Given the description of an element on the screen output the (x, y) to click on. 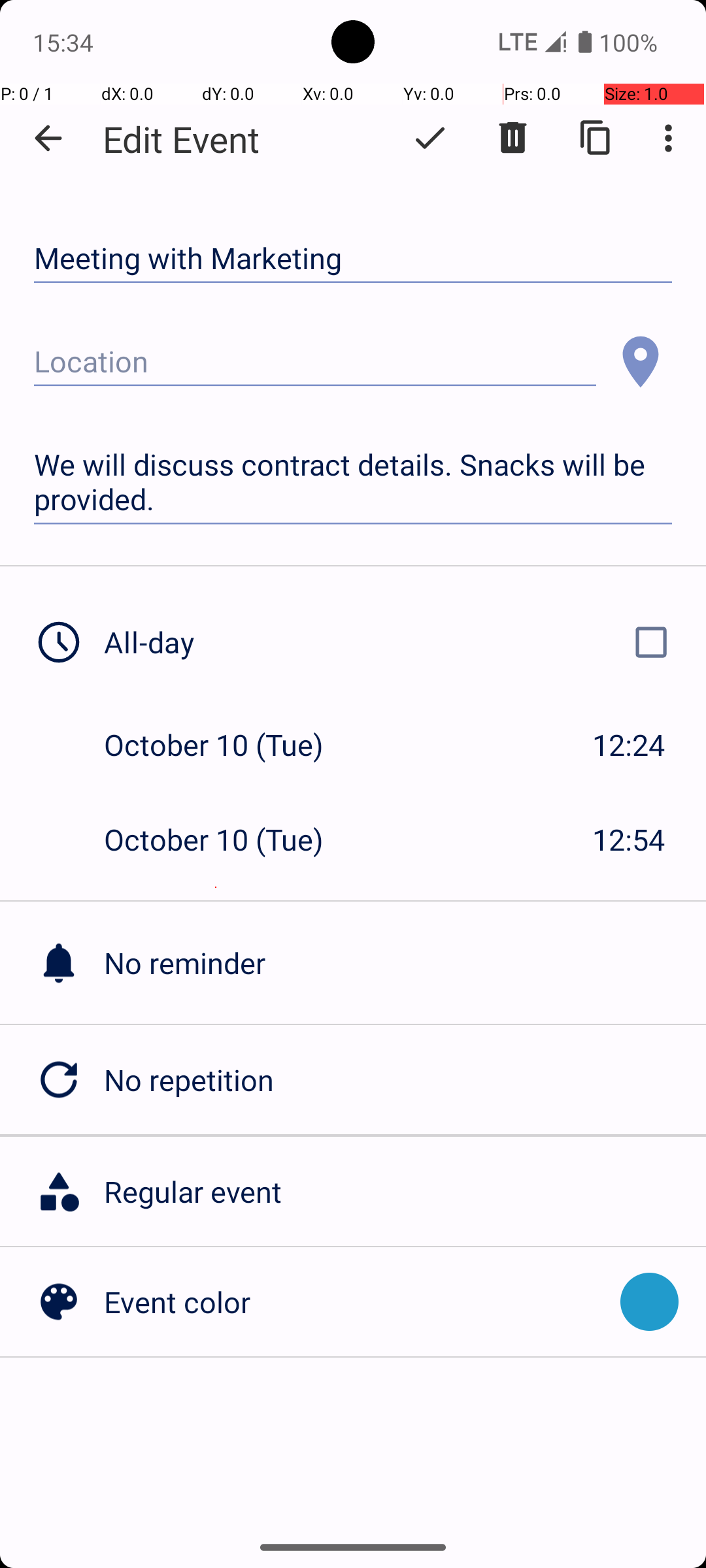
We will discuss contract details. Snacks will be provided. Element type: android.widget.EditText (352, 482)
October 10 (Tue) Element type: android.widget.TextView (227, 744)
12:24 Element type: android.widget.TextView (628, 744)
12:54 Element type: android.widget.TextView (628, 838)
